Given the description of an element on the screen output the (x, y) to click on. 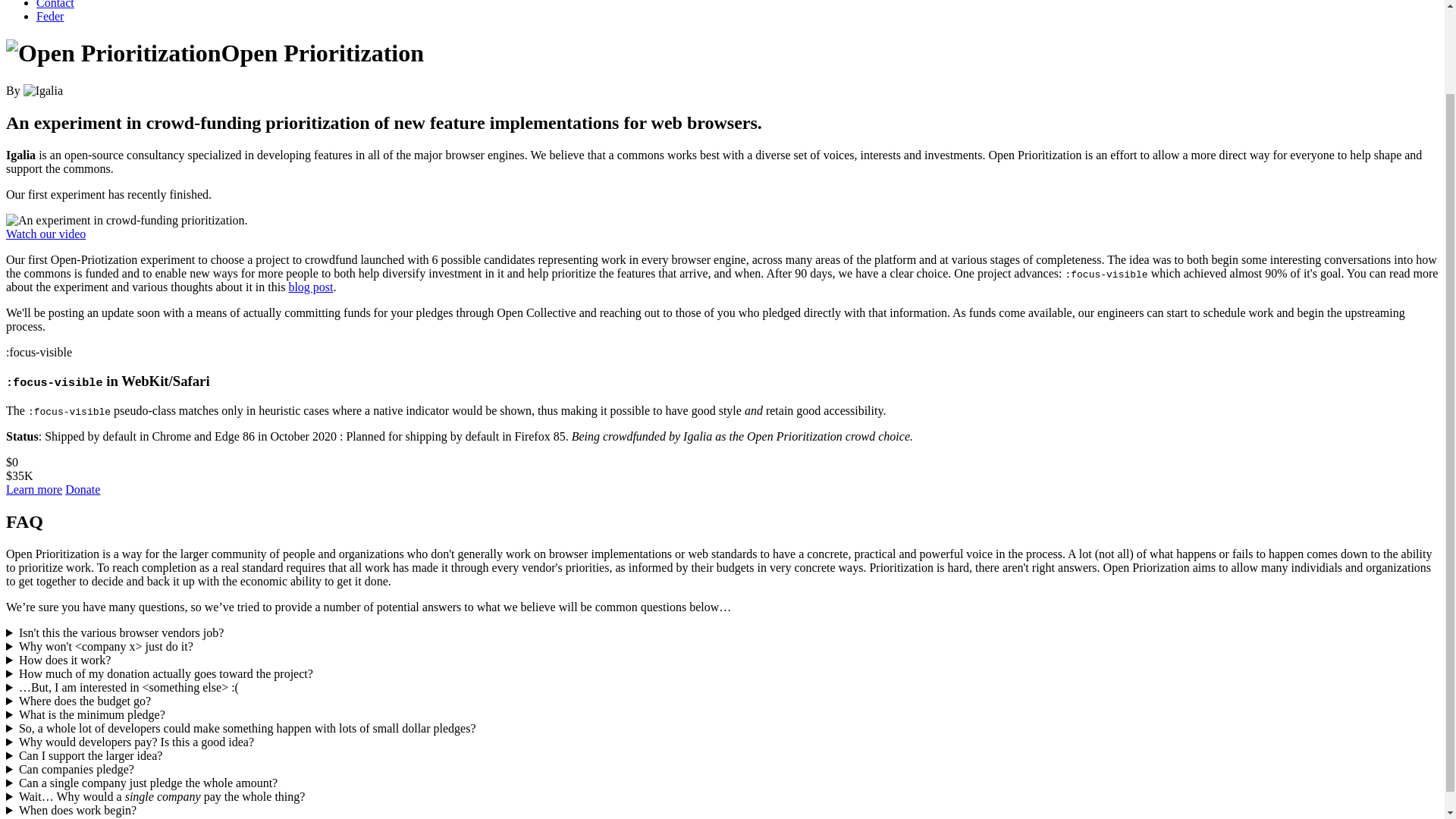
Feder (50, 15)
Contact (55, 4)
Donate (82, 489)
Feder (50, 15)
Learn more (33, 489)
blog post (310, 286)
Watch our video (45, 233)
Contact (55, 4)
